Given the description of an element on the screen output the (x, y) to click on. 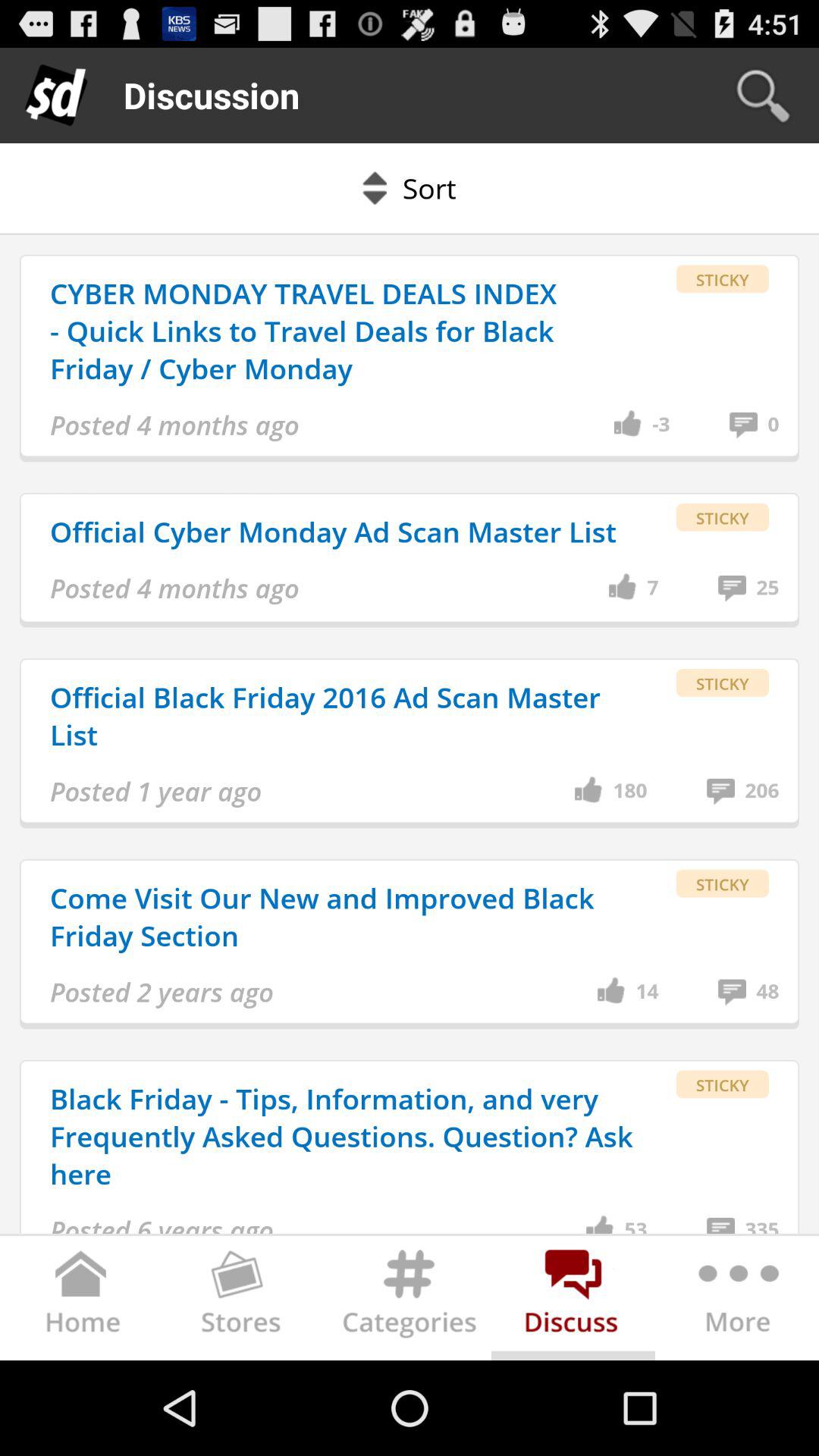
open app above the black friday tips item (646, 992)
